Given the description of an element on the screen output the (x, y) to click on. 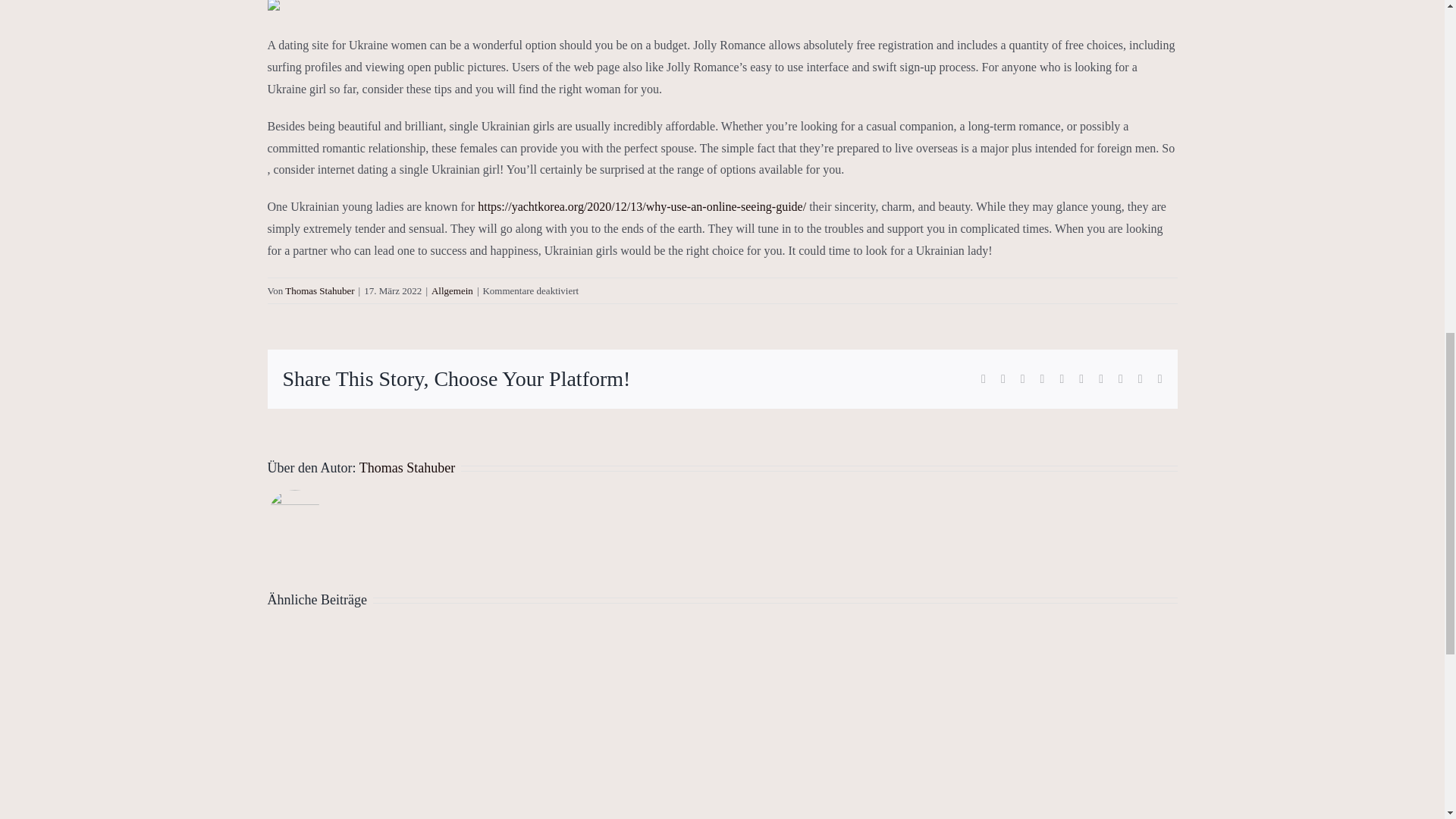
Allgemein (451, 290)
Thomas Stahuber (406, 467)
Thomas Stahuber (319, 290)
